Given the description of an element on the screen output the (x, y) to click on. 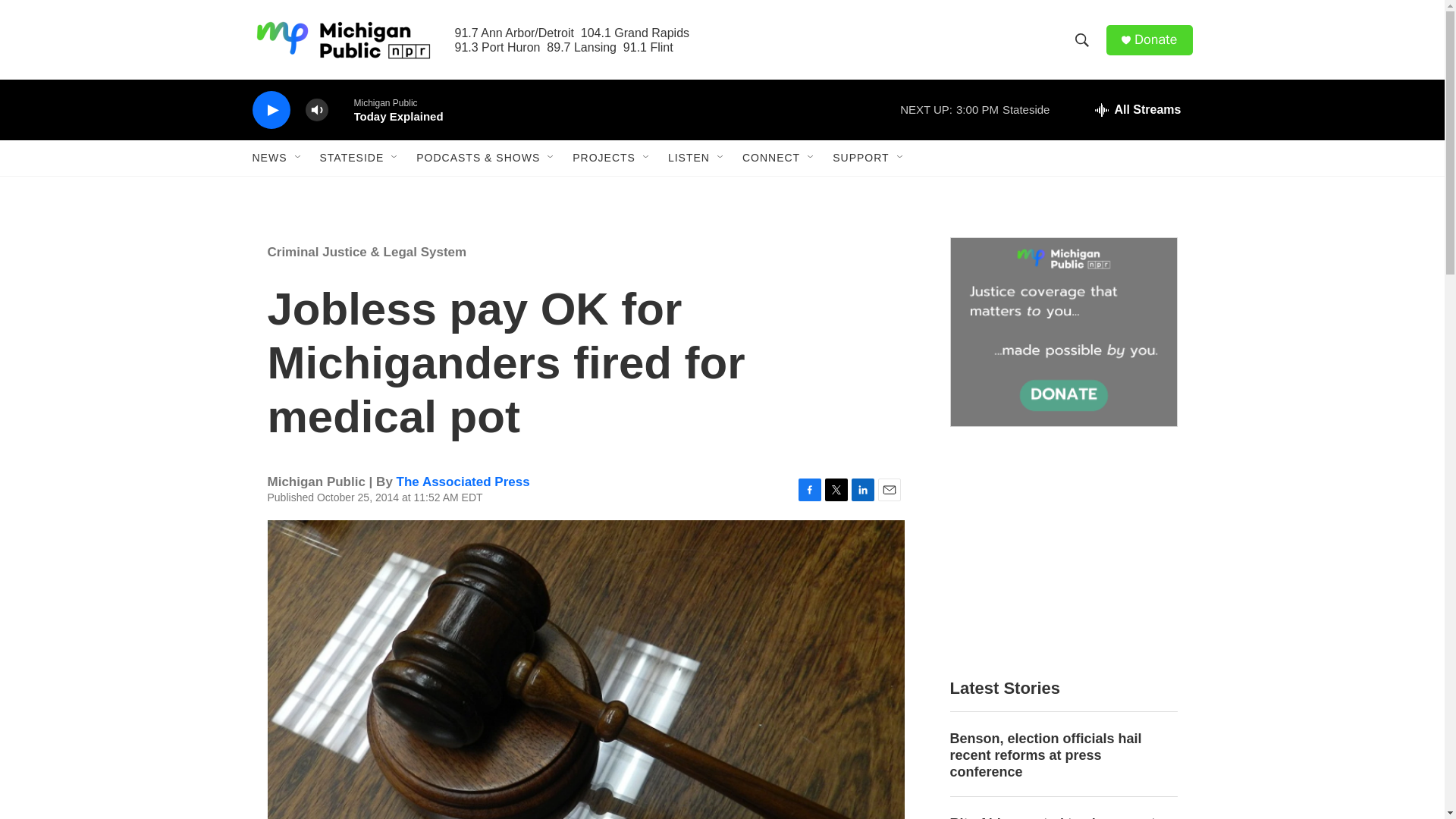
3rd party ad content (1062, 552)
